Given the description of an element on the screen output the (x, y) to click on. 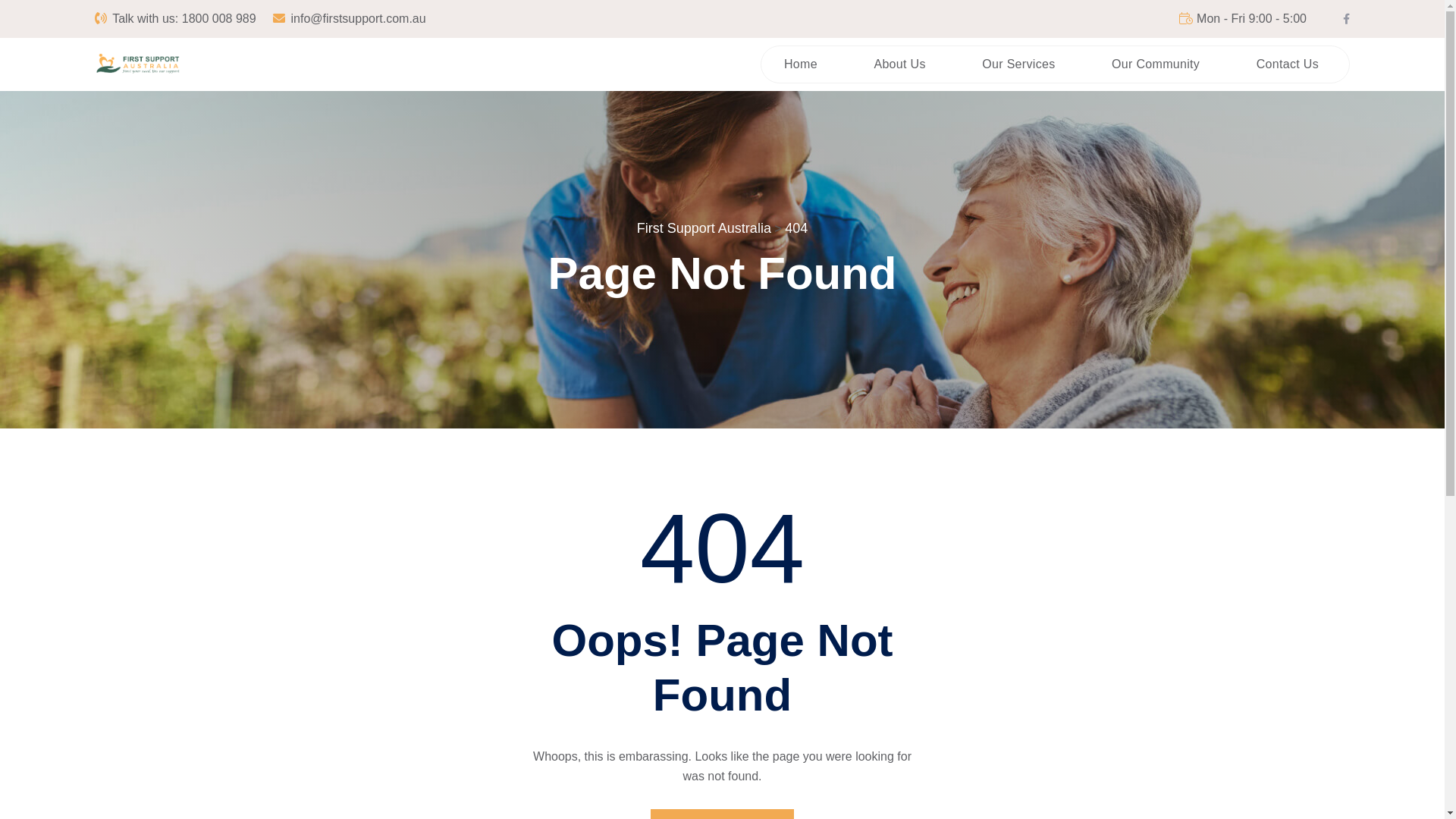
First Support Australia Element type: text (704, 227)
Contact Us Element type: text (1287, 64)
1800 008 989 Element type: text (219, 18)
404 Element type: text (795, 227)
info@firstsupport.com.au Element type: text (358, 18)
About Us Element type: text (899, 64)
Home Element type: text (800, 64)
Our Community Element type: text (1155, 64)
Our Services Element type: text (1018, 64)
